Given the description of an element on the screen output the (x, y) to click on. 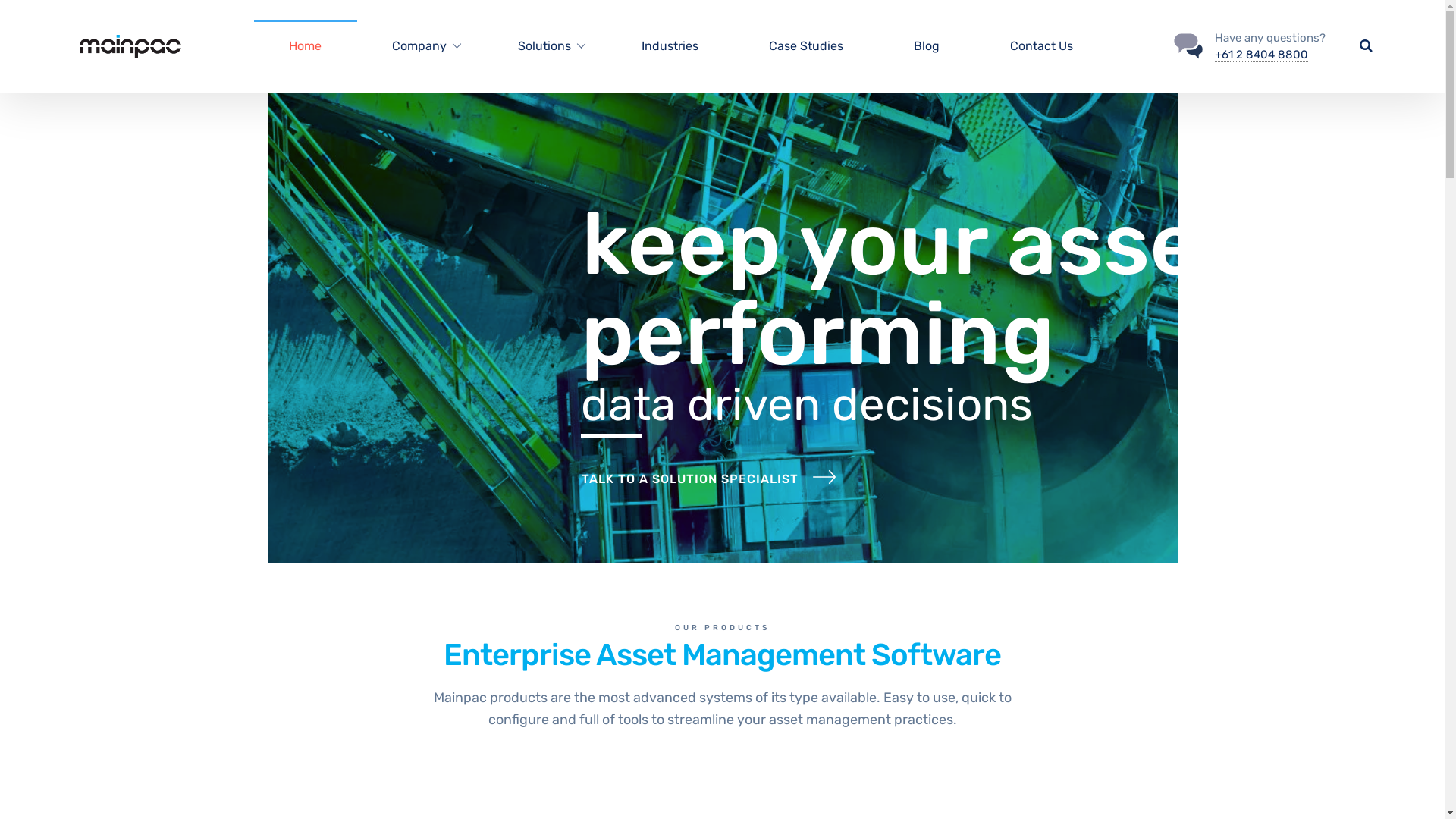
Search Element type: text (1335, 55)
Contact Us Element type: text (1040, 46)
Blog Element type: text (926, 46)
+61 2 8404 8800 Element type: text (1261, 54)
Case Studies Element type: text (805, 46)
Home Element type: text (305, 46)
Industries Element type: text (669, 46)
TALK TO A SOLUTION SPECIALIST Element type: text (707, 477)
Search Element type: text (1364, 44)
Company Element type: text (419, 46)
Solutions Element type: text (543, 46)
